Given the description of an element on the screen output the (x, y) to click on. 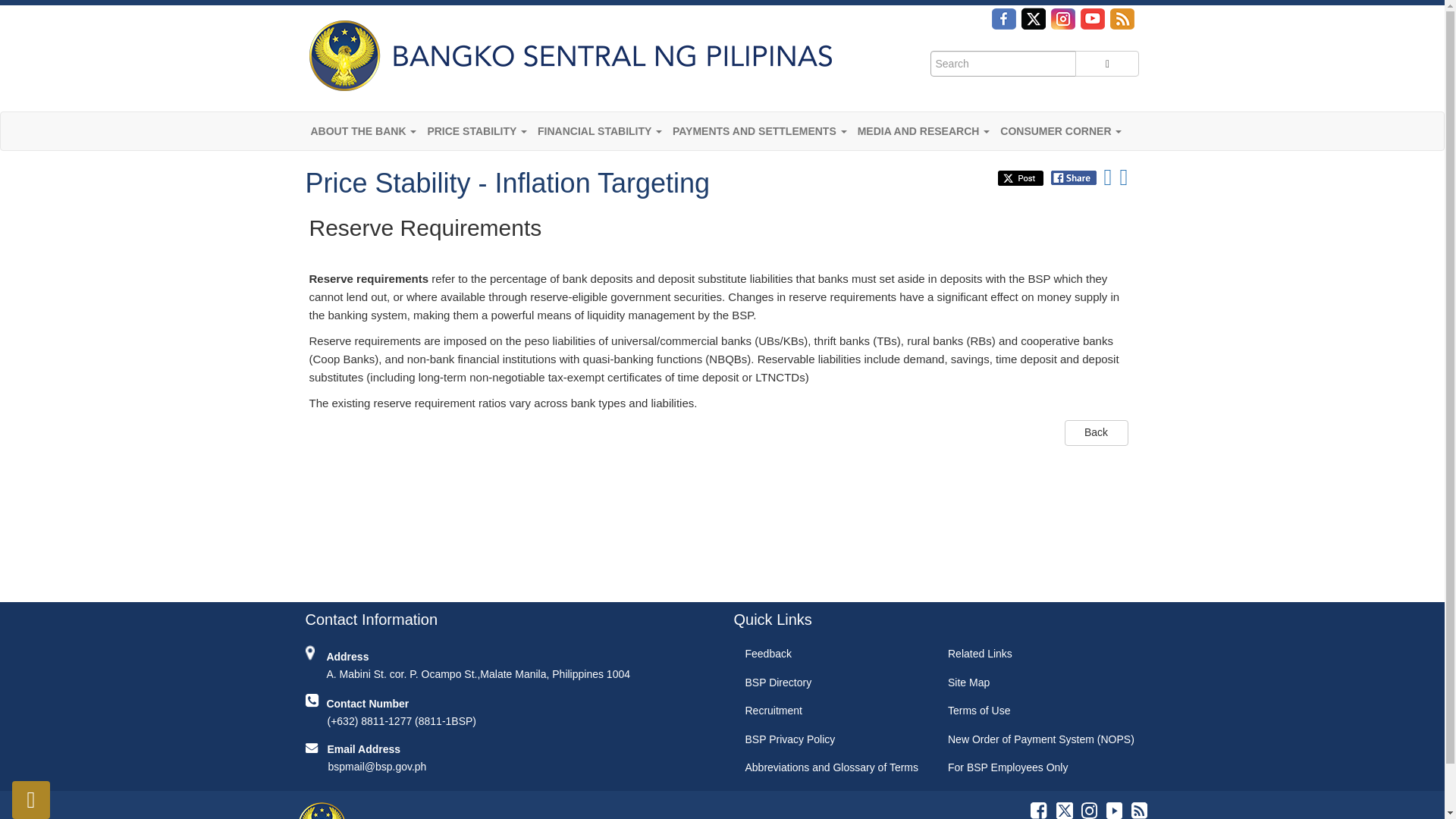
ABOUT THE BANK (363, 130)
PRICE STABILITY (477, 130)
Bangko Sentral ng Pilipinas (567, 55)
